Given the description of an element on the screen output the (x, y) to click on. 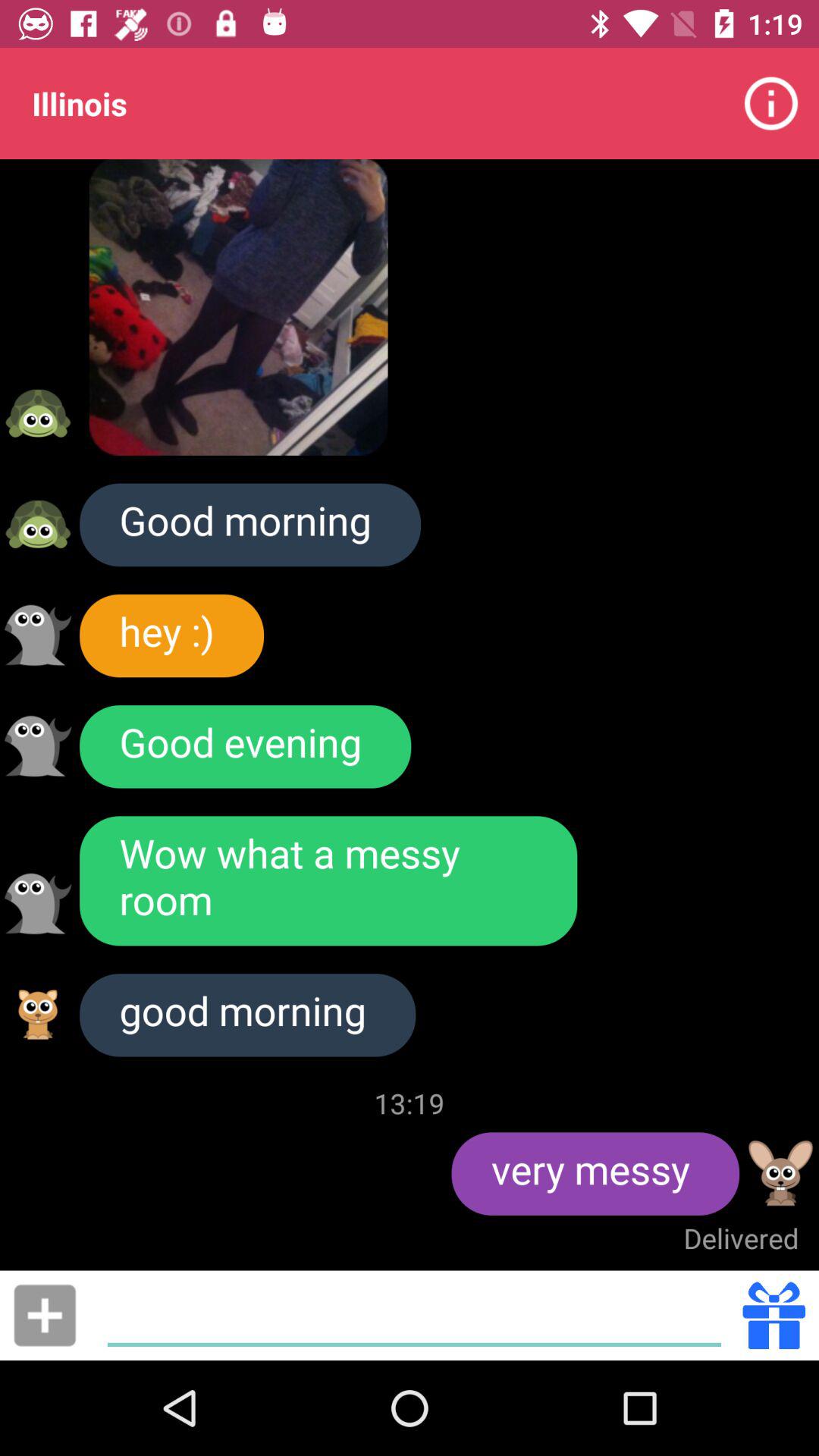
add link (44, 1315)
